Given the description of an element on the screen output the (x, y) to click on. 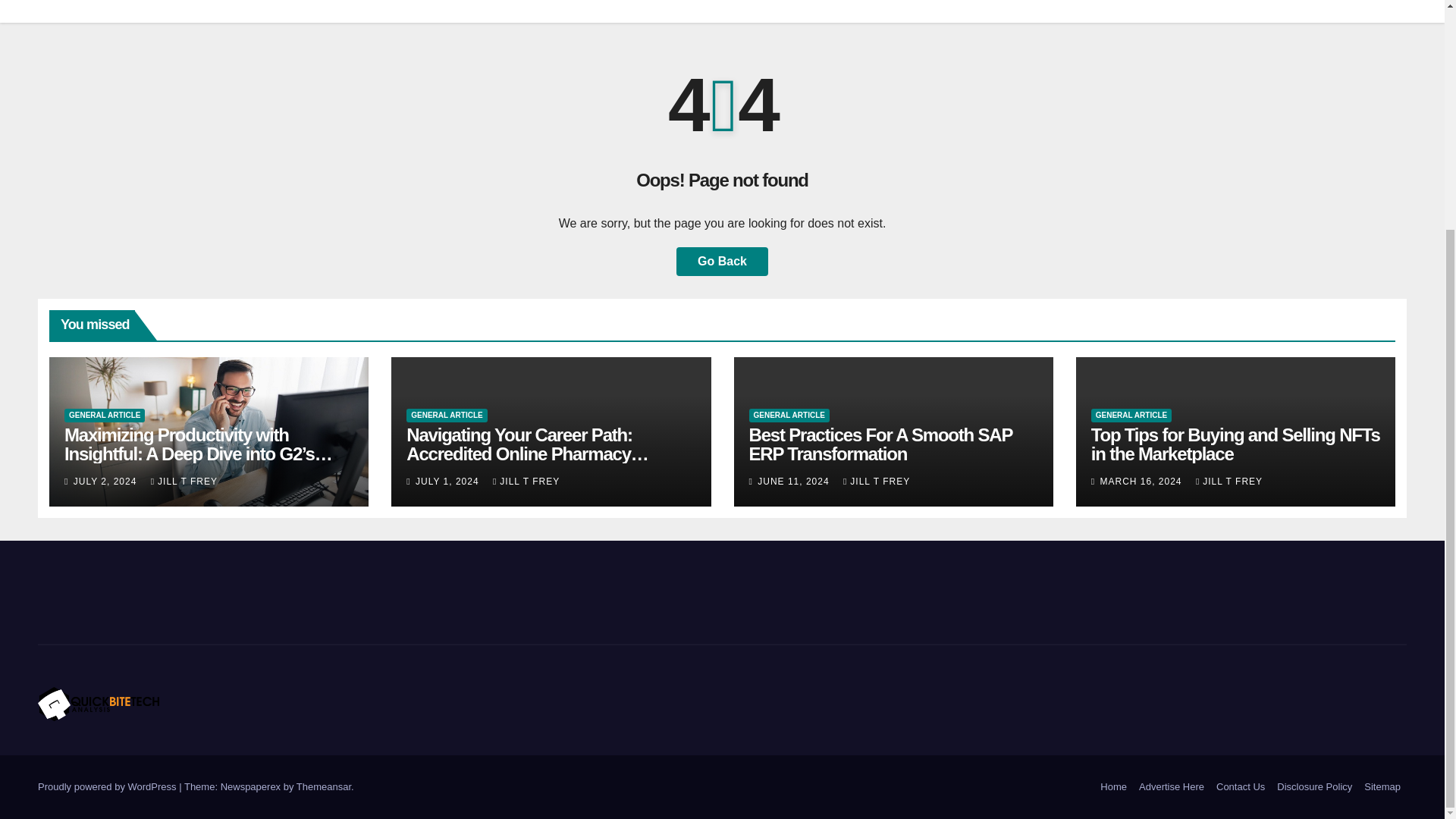
GENERAL ARTICLE (446, 415)
GENERAL ARTICLE (104, 415)
Go Back (722, 261)
JILL T FREY (183, 480)
JULY 2, 2024 (106, 480)
